Given the description of an element on the screen output the (x, y) to click on. 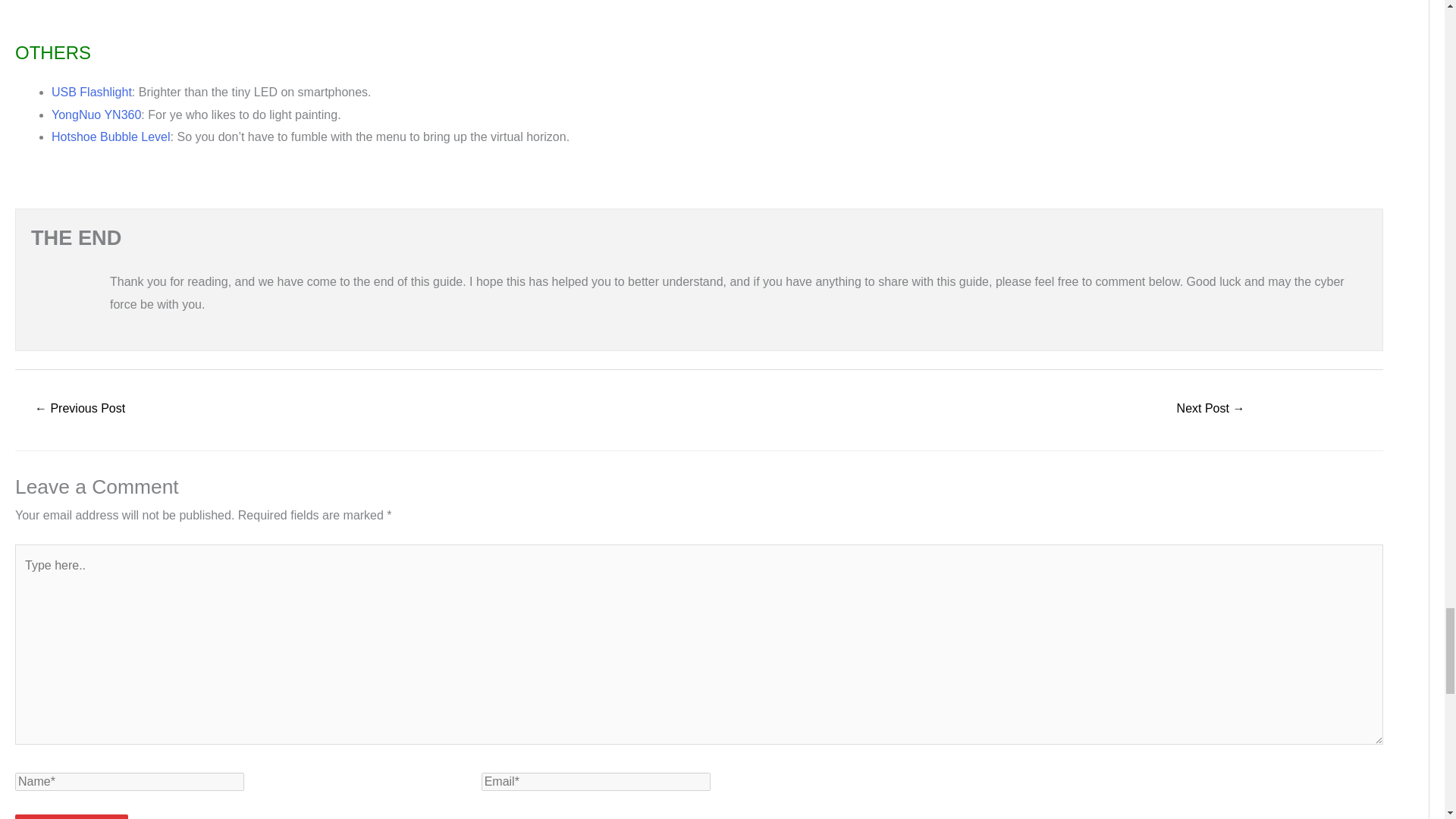
How To Send Anonymous Email - Without Being Traced! (79, 409)
11 Basic Computer Network Components - A Simple Guide (1210, 409)
